Given the description of an element on the screen output the (x, y) to click on. 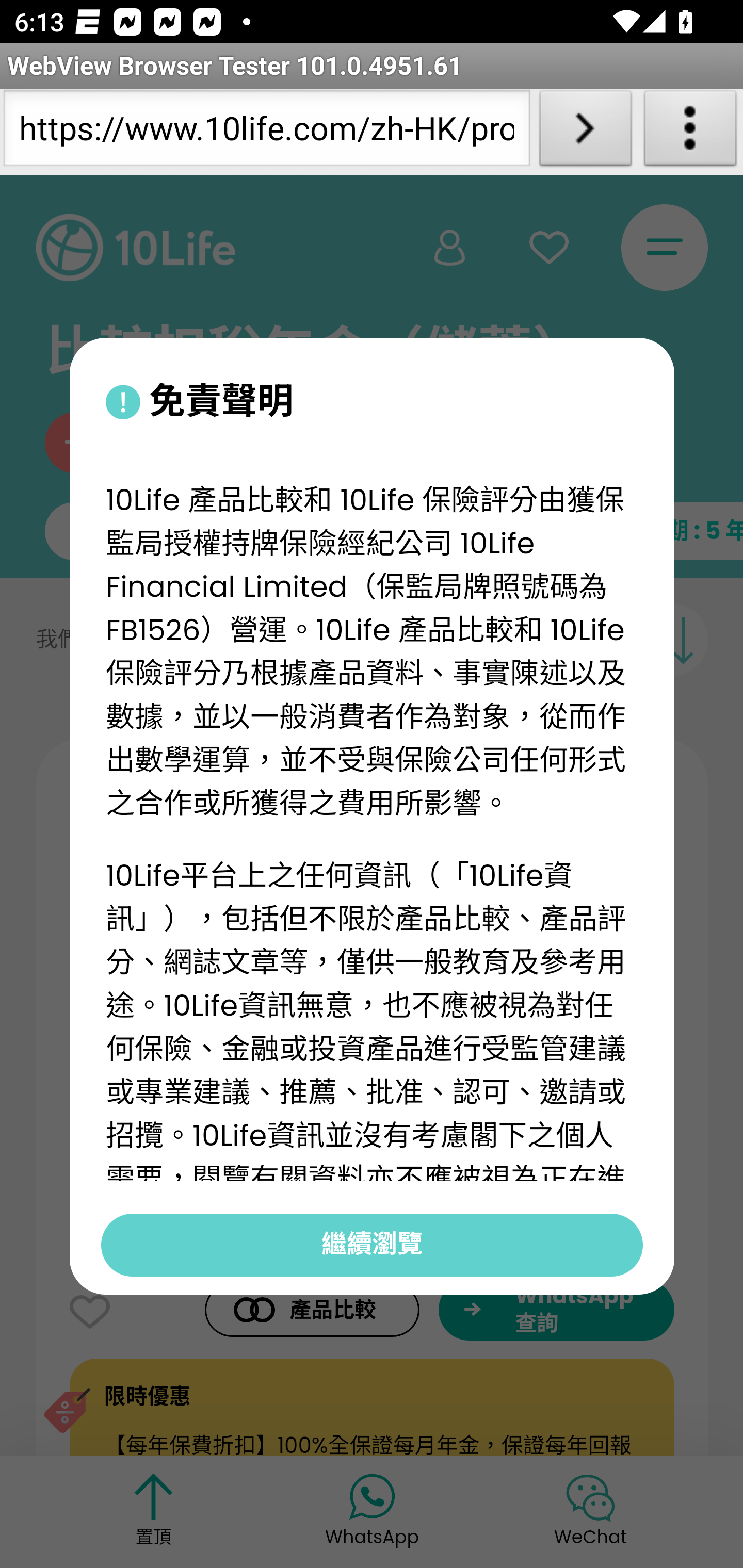
Load URL (585, 132)
About WebView (690, 132)
繼續瀏覽 (371, 1244)
